Given the description of an element on the screen output the (x, y) to click on. 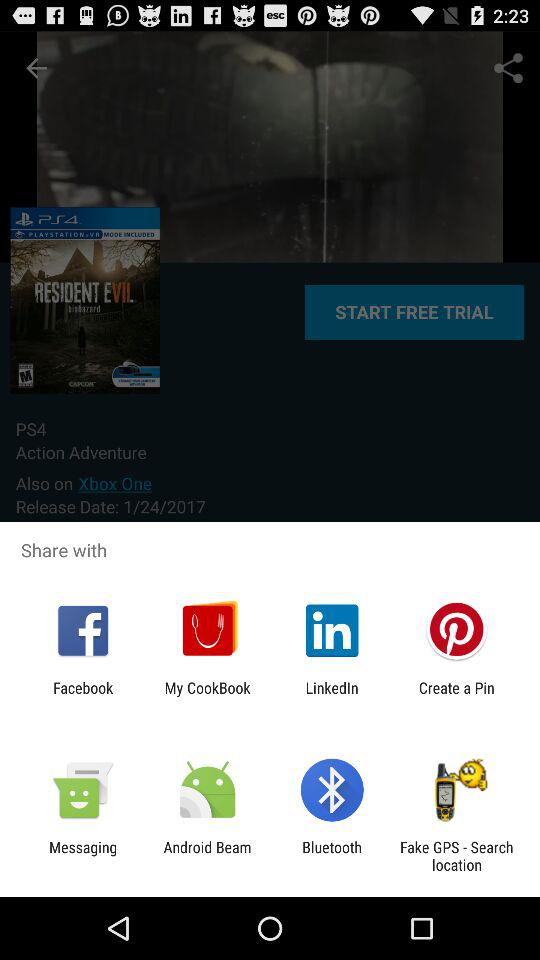
select app to the right of messaging icon (207, 856)
